Given the description of an element on the screen output the (x, y) to click on. 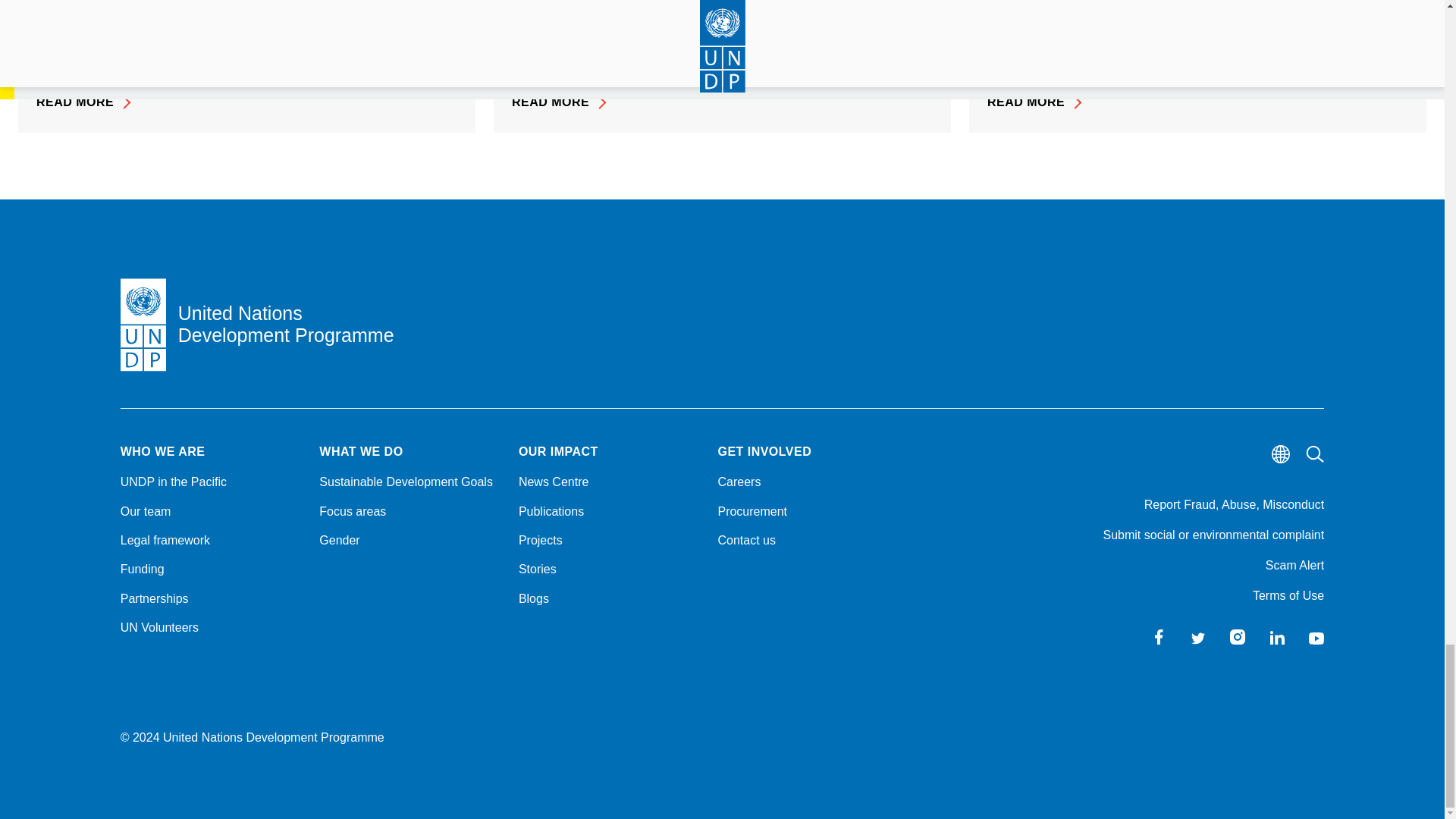
Sustainable Development Goals (409, 482)
Our team (210, 511)
Facebook (1158, 636)
LinkedIn (1276, 636)
Partnerships (210, 598)
UNDP in the Pacific (210, 482)
Instagram (1237, 636)
Twitter (1198, 636)
